Given the description of an element on the screen output the (x, y) to click on. 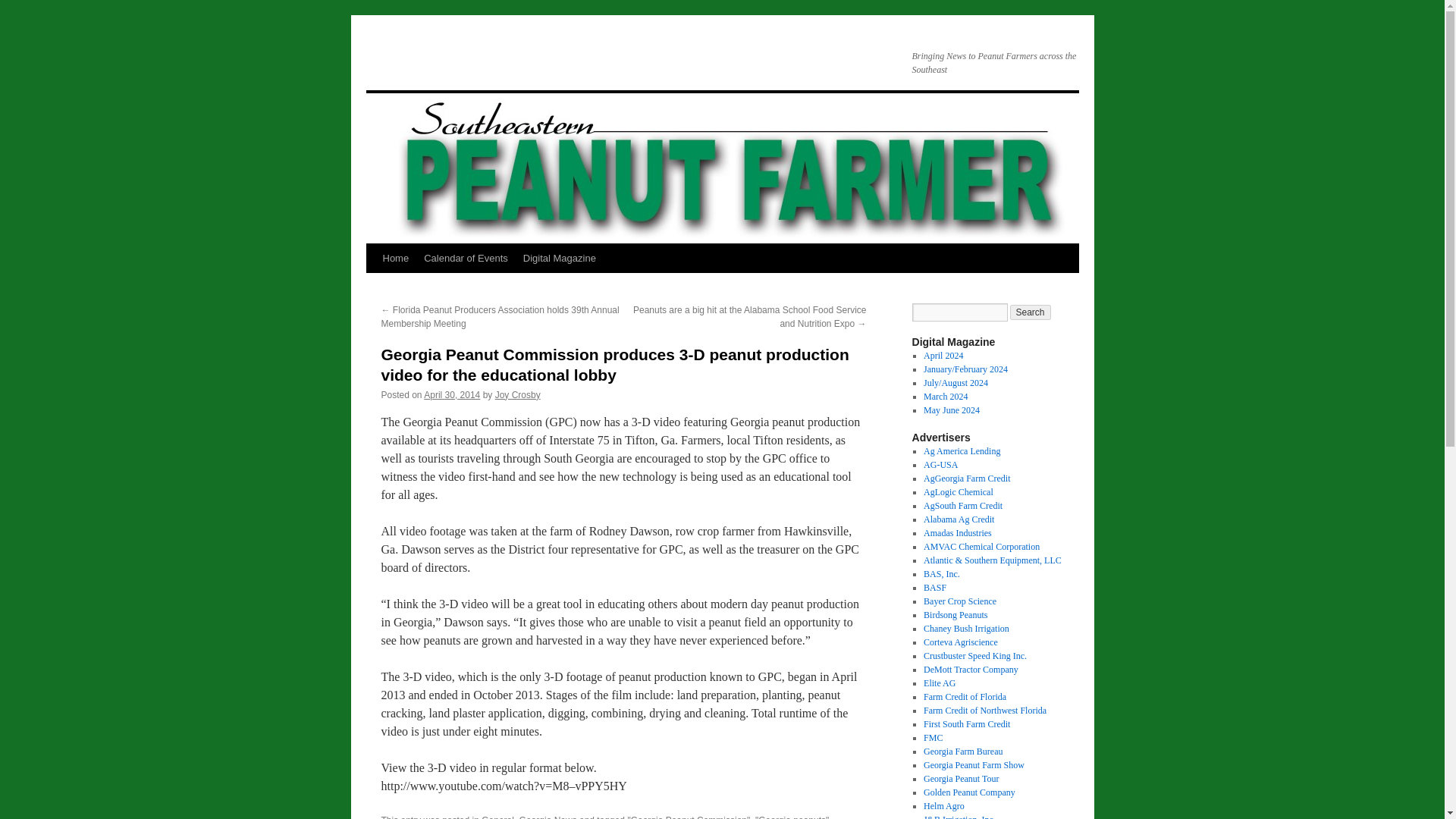
View all posts by Joy Crosby (517, 394)
Digital Magazine (559, 258)
Crustbuster Speed King Inc. (974, 655)
May June 2024 (951, 409)
April 30, 2014 (451, 394)
Alabama Ag Credit (958, 519)
Chaney Bush Irrigation (966, 628)
AgGeorgia Farm Credit (966, 478)
Bayer Crop Science (959, 601)
AMVAC Chemical Corporation (981, 546)
Amadas Industries (957, 532)
BASF (934, 587)
Home (395, 258)
BAS, Inc. (941, 573)
General (497, 816)
